Given the description of an element on the screen output the (x, y) to click on. 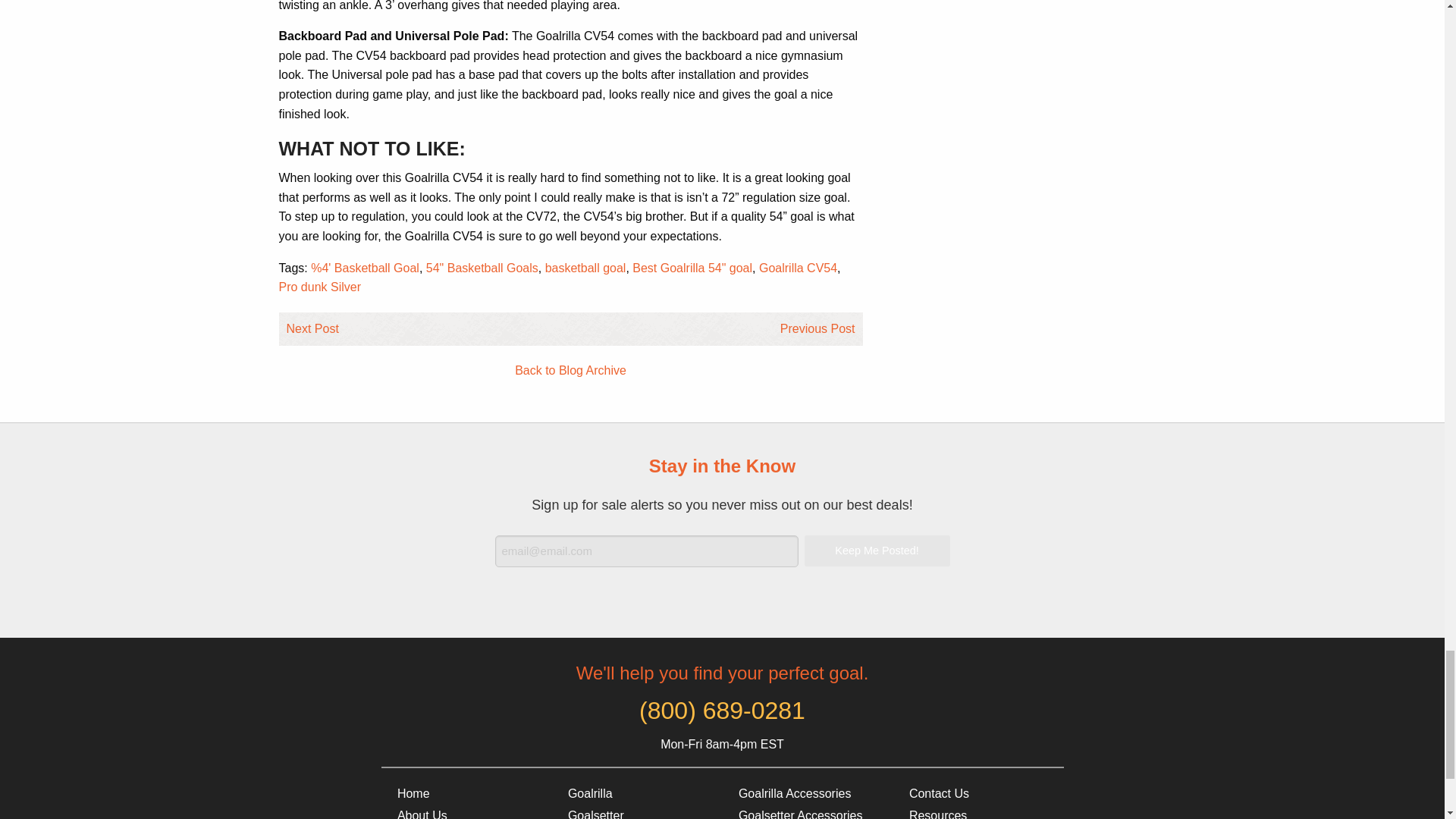
Keep Me Posted! (876, 550)
Goalrilla (636, 793)
Goalsetter (636, 812)
BasketballGoalStore.com (466, 793)
